Given the description of an element on the screen output the (x, y) to click on. 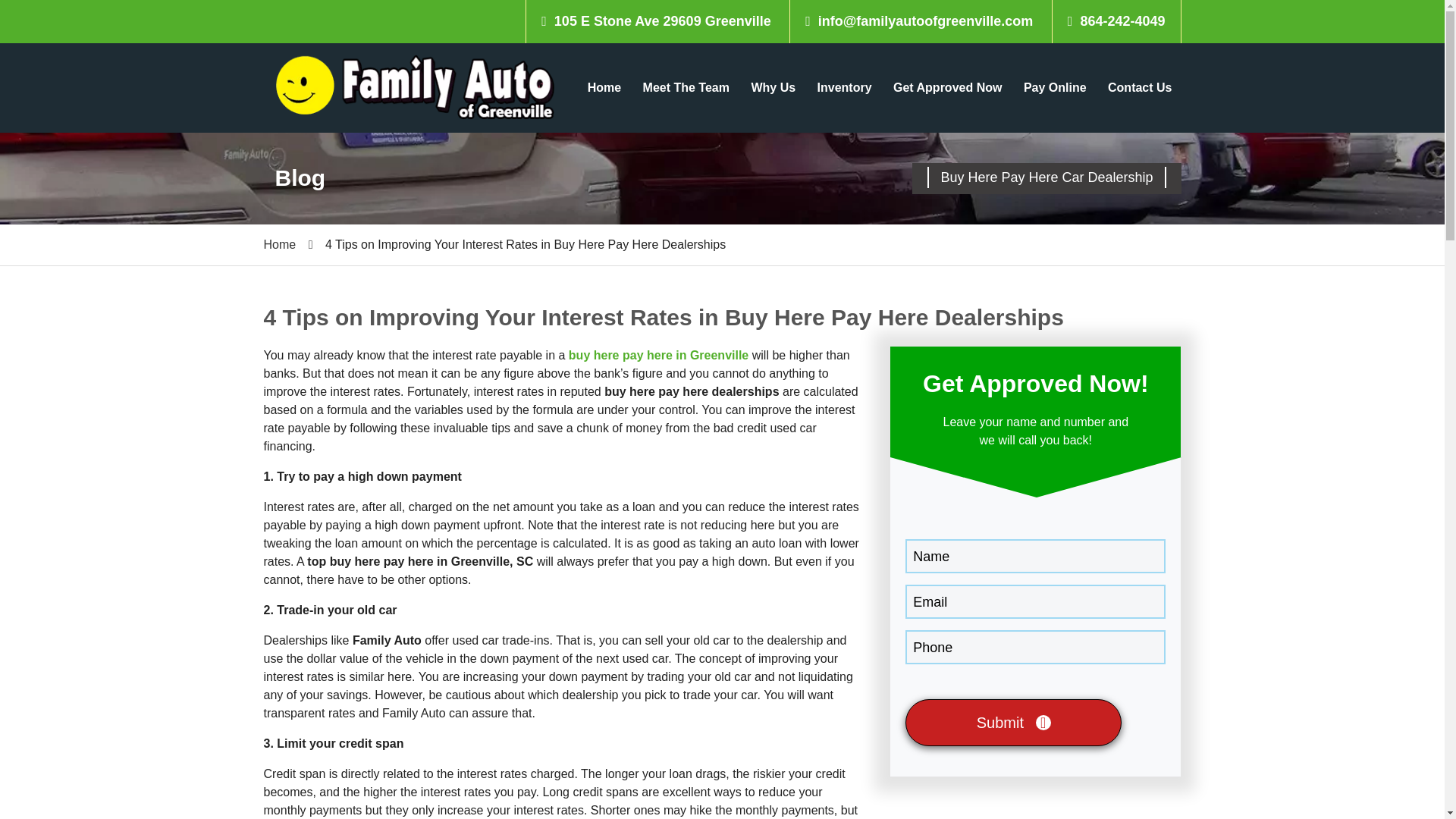
Submit (1013, 722)
Home (280, 244)
Contact Us (1139, 87)
buy here pay here in Greenville (658, 354)
Why Us (773, 87)
864-242-4049 (1116, 20)
Meet The Team (685, 87)
Get Approved Now (946, 87)
105 E Stone Ave 29609 Greenville (660, 20)
Inventory (844, 87)
Pay Online (1055, 87)
